Given the description of an element on the screen output the (x, y) to click on. 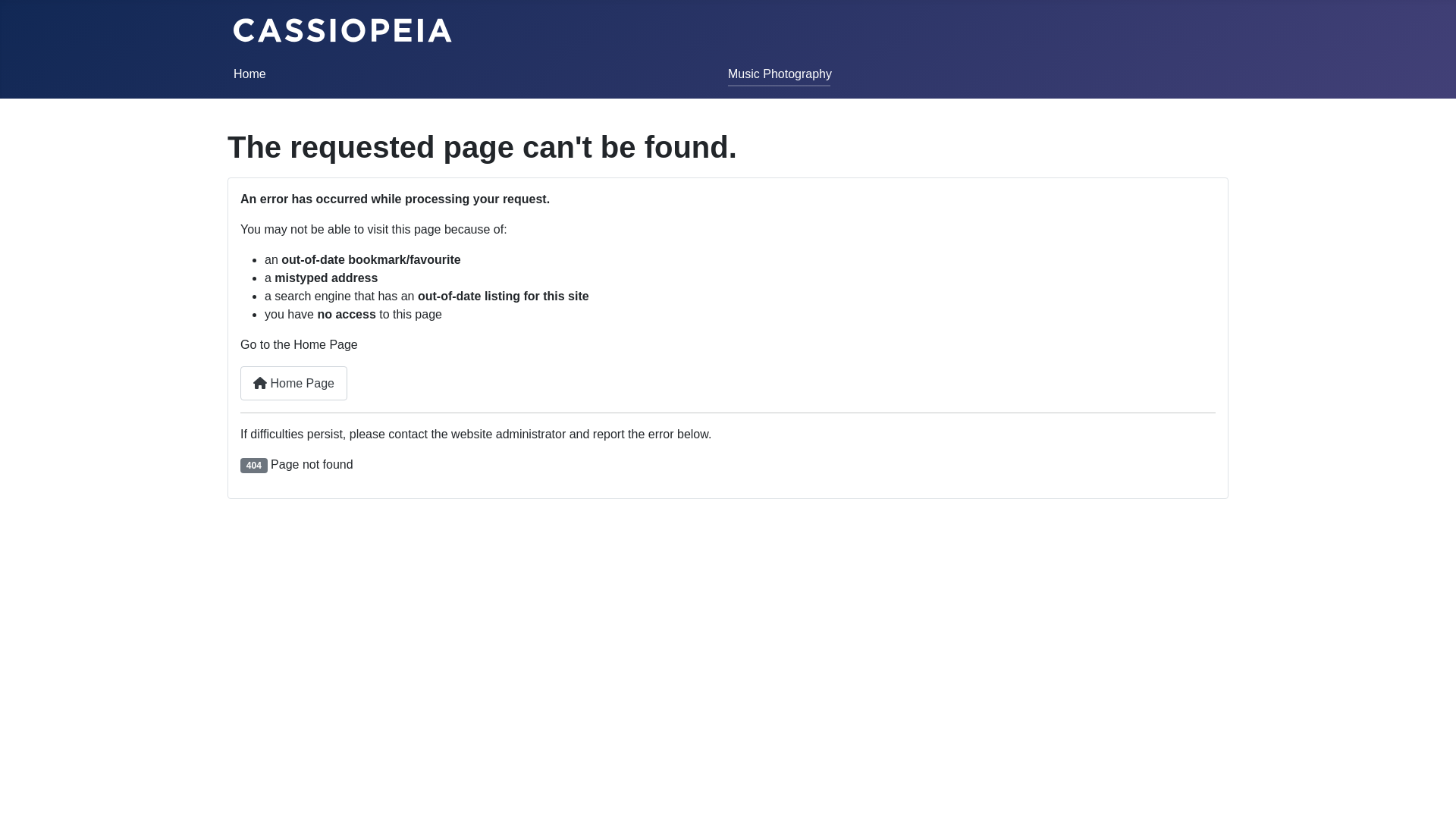
Music Photography Element type: text (779, 73)
Home Element type: text (249, 73)
Home Page Element type: text (293, 383)
